Given the description of an element on the screen output the (x, y) to click on. 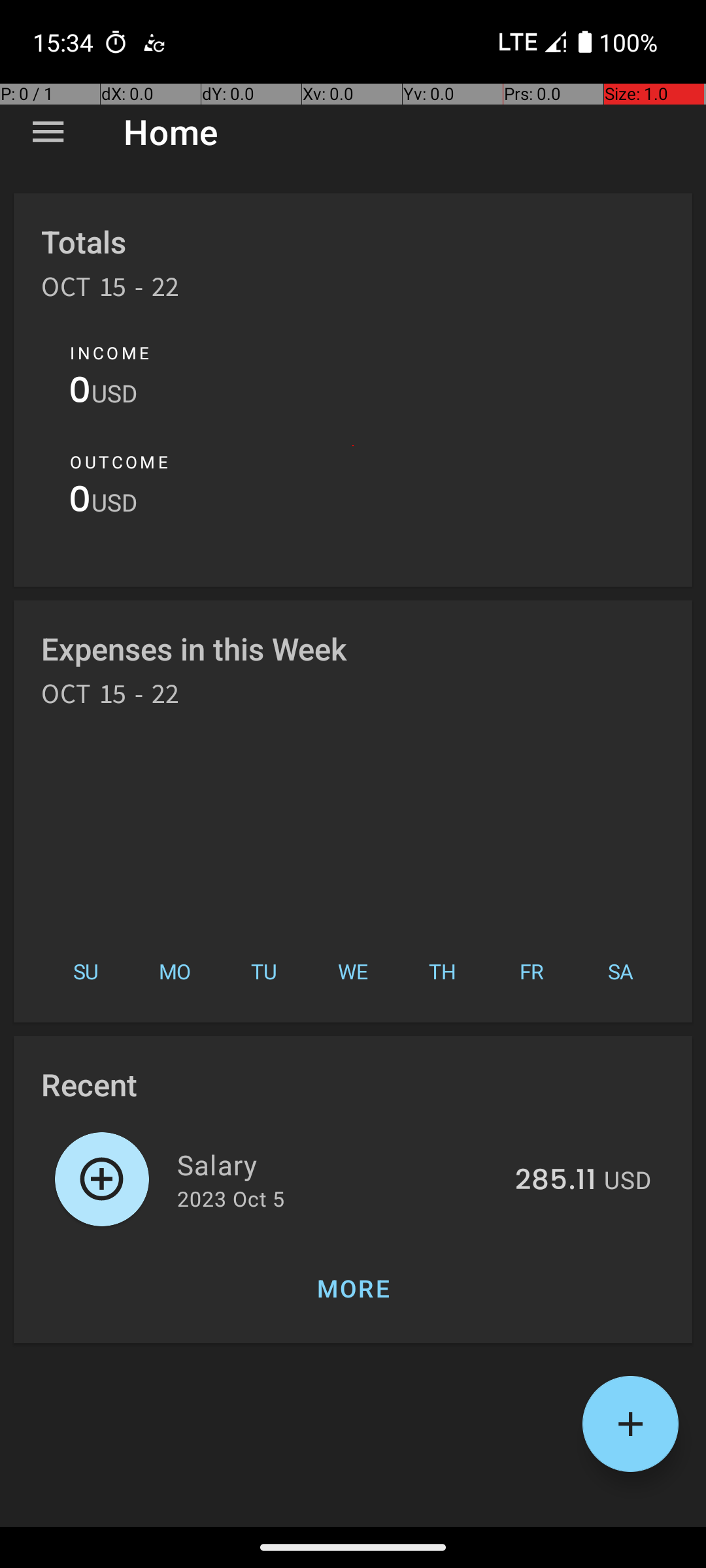
Salary Element type: android.widget.TextView (338, 1164)
2023 Oct 5 Element type: android.widget.TextView (230, 1198)
285.11 Element type: android.widget.TextView (555, 1180)
